Given the description of an element on the screen output the (x, y) to click on. 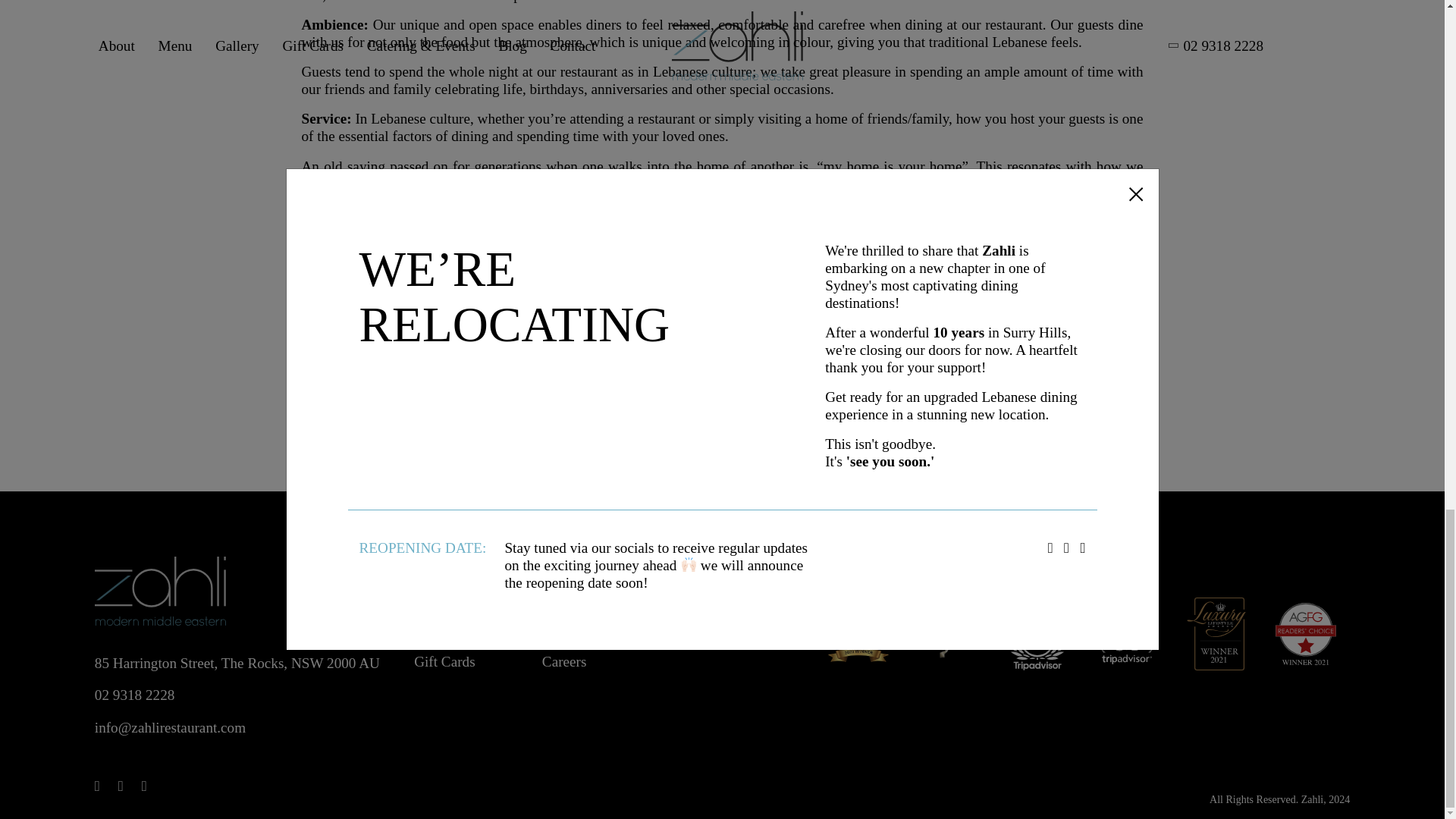
Menu (430, 629)
02 9318 2228 (134, 694)
Gift Cards (443, 661)
Blog (555, 596)
85 Harrington Street, The Rocks, NSW 2000 AU (237, 662)
About (431, 596)
Contact (564, 629)
Careers (563, 661)
Home (431, 565)
